Given the description of an element on the screen output the (x, y) to click on. 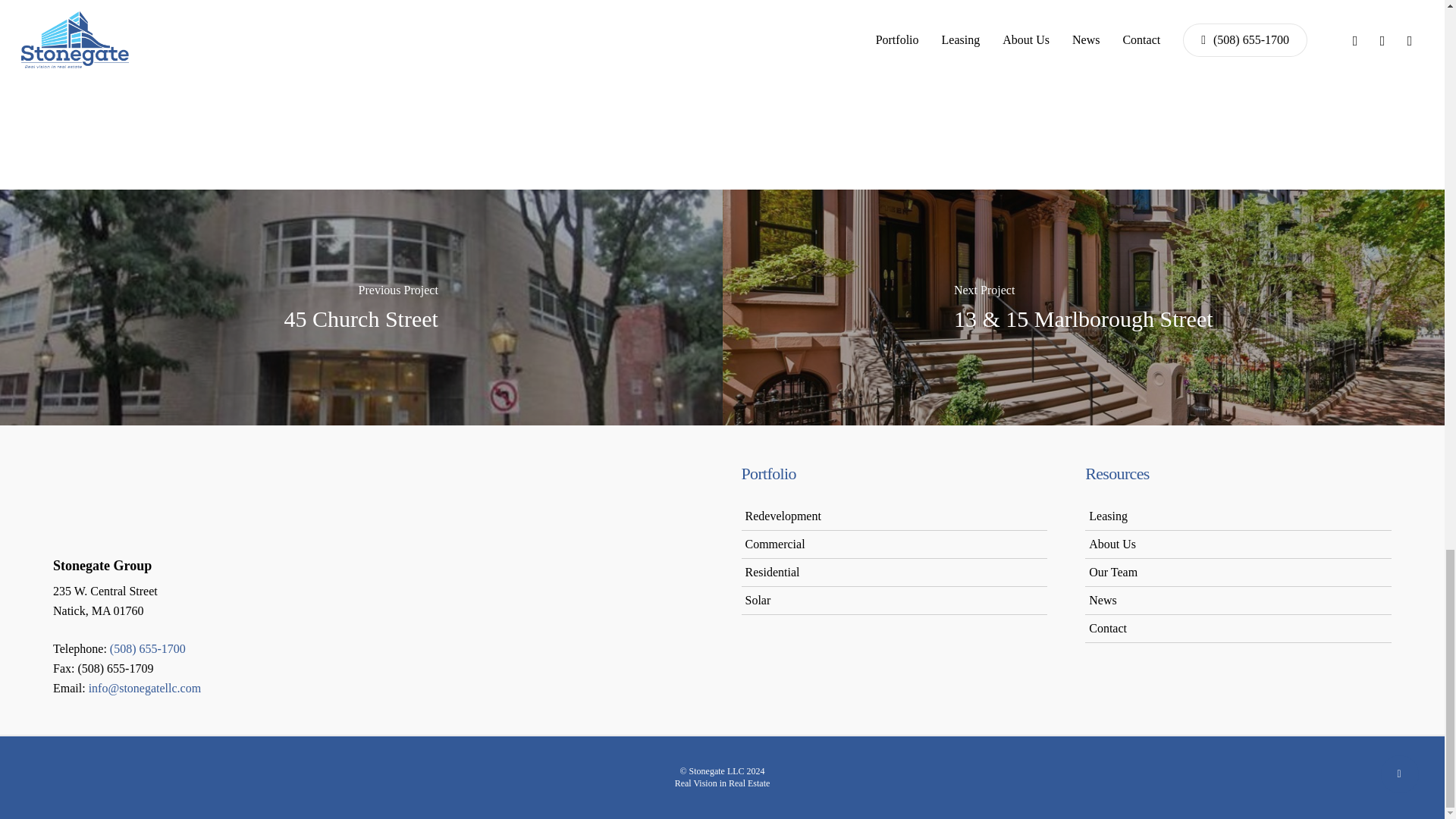
About Us (1112, 543)
Redevelopment (782, 515)
Contact (1107, 627)
Our Team (1113, 571)
News (1102, 599)
Residential (771, 571)
Solar (757, 599)
Commercial (774, 543)
Leasing (1107, 515)
